Given the description of an element on the screen output the (x, y) to click on. 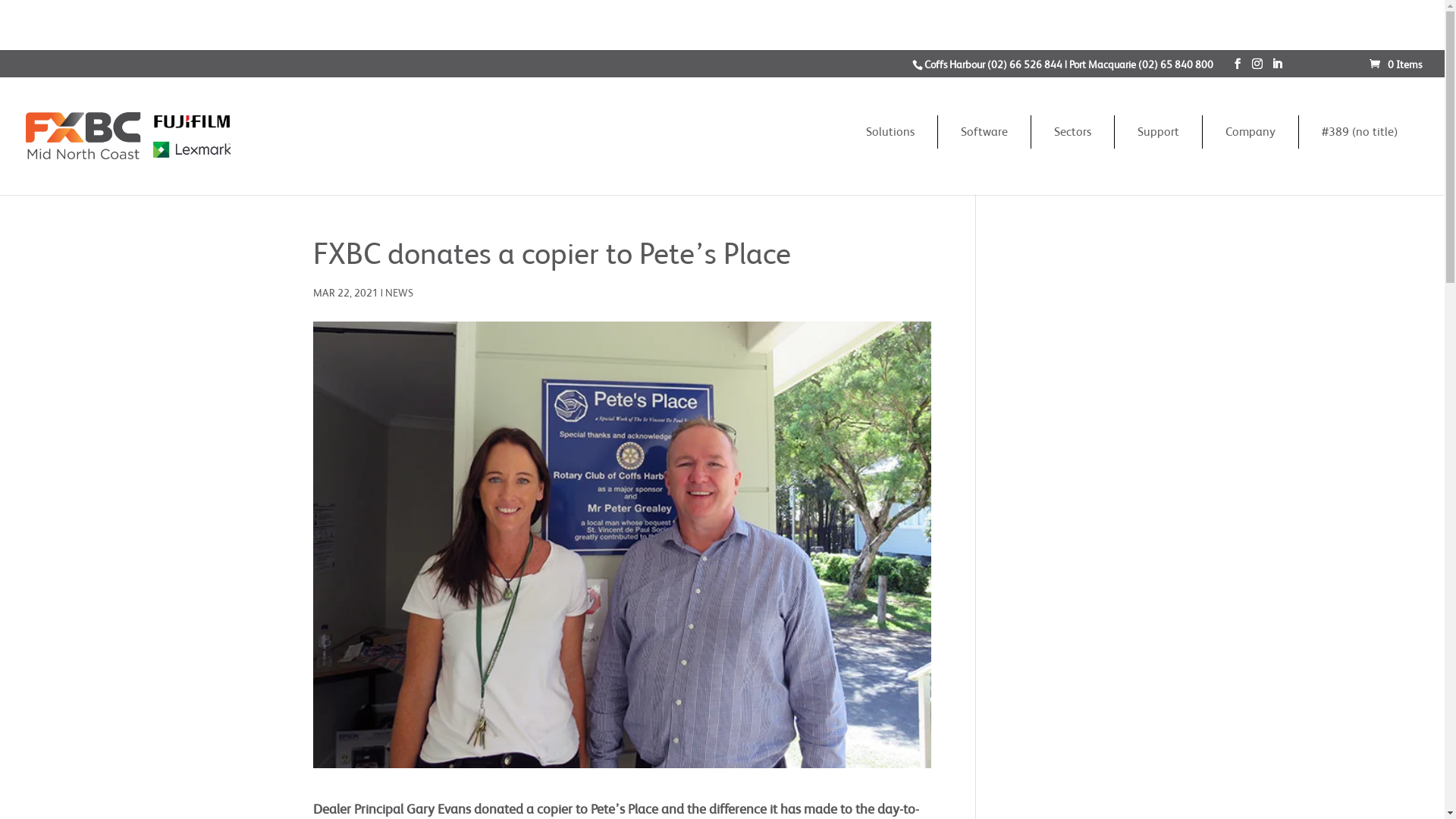
0 Items Element type: text (1395, 63)
Software Element type: text (984, 131)
Solutions Element type: text (890, 131)
NEWS Element type: text (399, 292)
(02) 65 840 800 Element type: text (1174, 63)
Sectors Element type: text (1072, 131)
Company Element type: text (1250, 131)
(02) 66 526 844 Element type: text (1024, 63)
#389 (no title) Element type: text (1359, 131)
Support Element type: text (1157, 131)
